Given the description of an element on the screen output the (x, y) to click on. 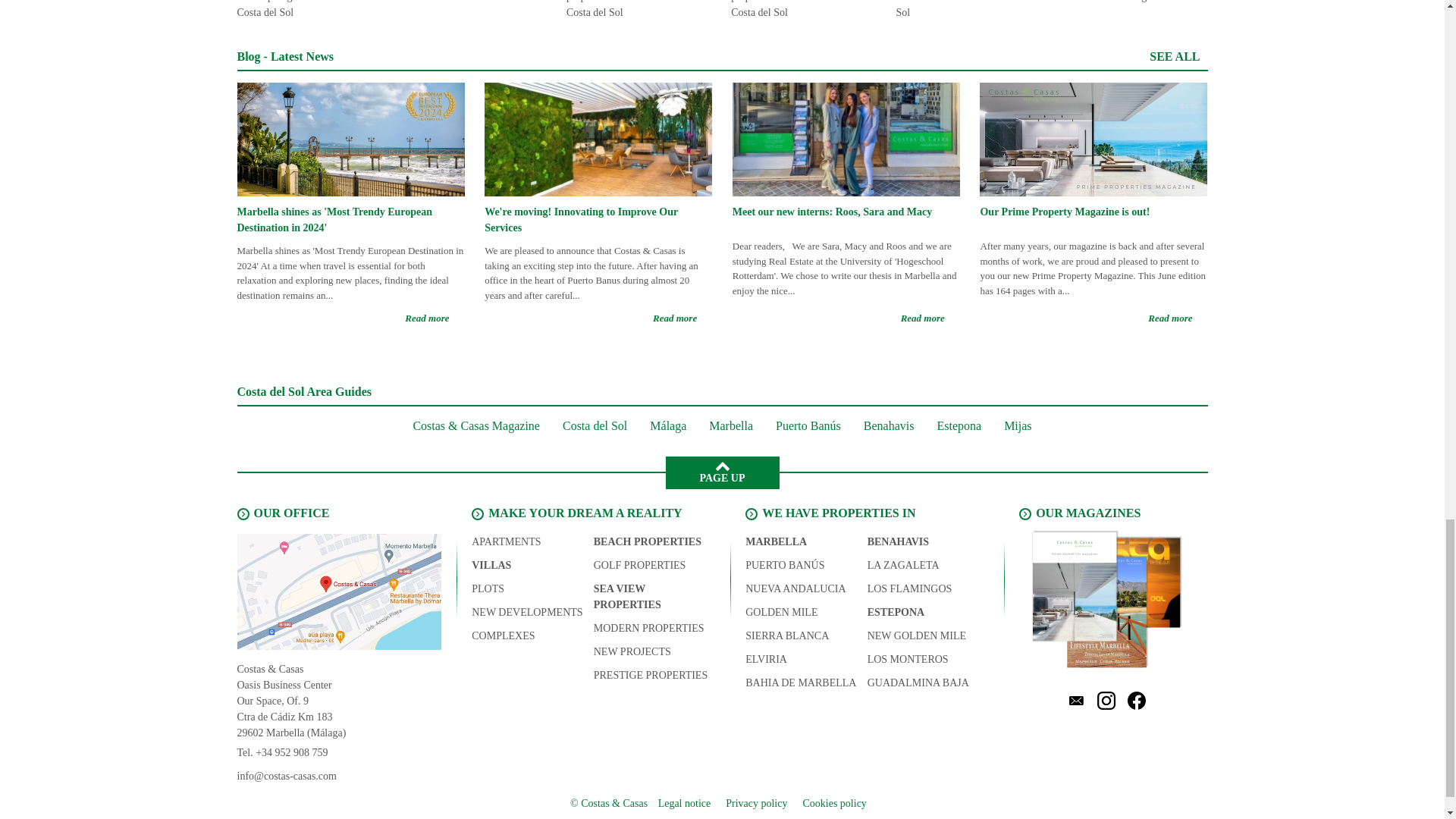
Modern properties for sale (649, 627)
Apartments for sale (505, 541)
New developments for sale (526, 612)
Elviria villas and apartments (766, 658)
Golf properties for sale (639, 565)
COMPLEXES (502, 635)
Beach properties for sale (647, 541)
Nueva Andalucia villas and apartments (795, 588)
New projects for sale (632, 651)
Plots for sale (487, 588)
Sea view properties for sale (654, 596)
PAGE UP (721, 472)
Prestige properties for sale (650, 675)
La Zagaleta villas (903, 565)
Sierra Blanca villas and apartments (786, 635)
